Given the description of an element on the screen output the (x, y) to click on. 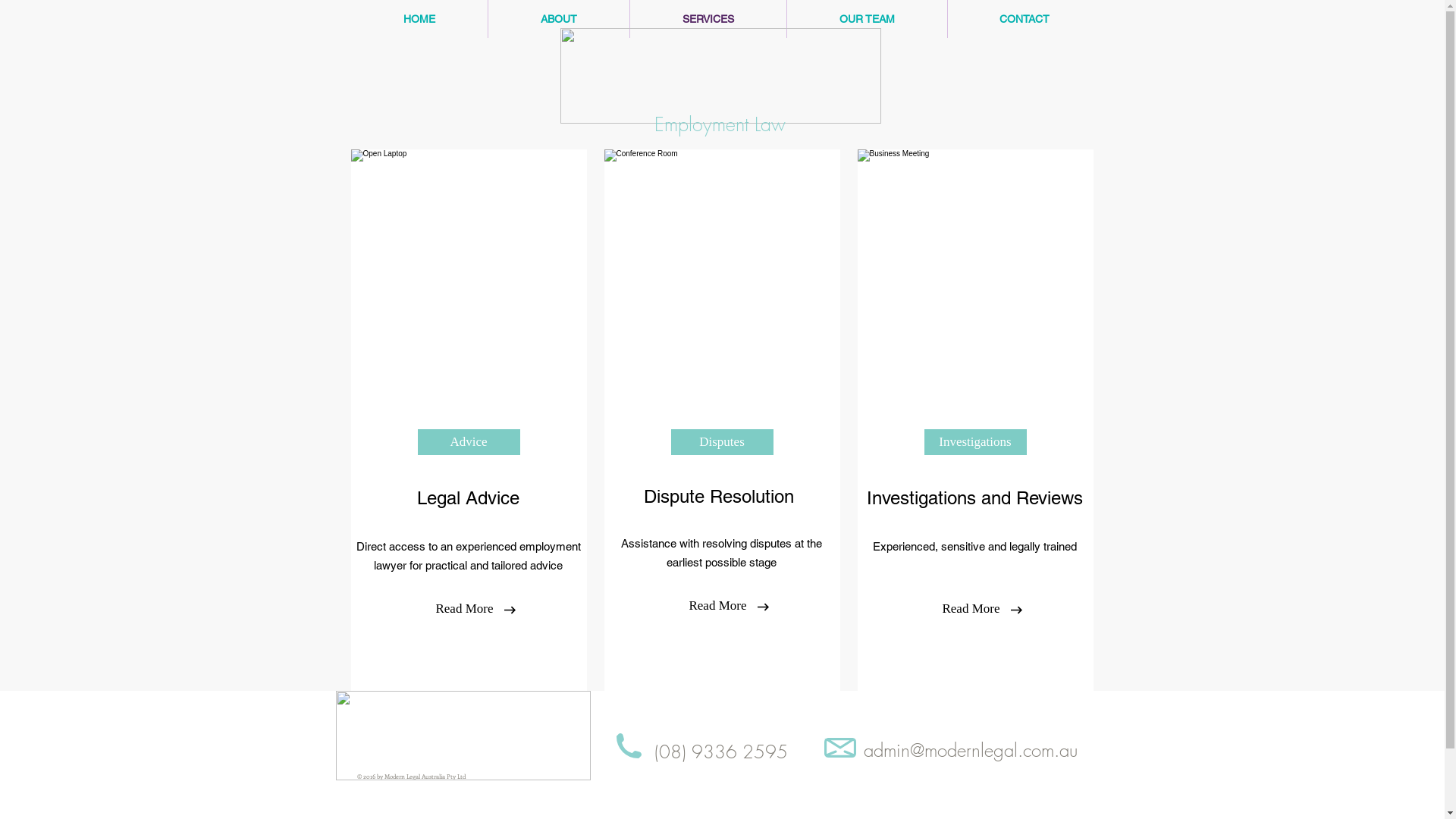
Read More Element type: text (717, 605)
Read More Element type: text (464, 608)
(08) 9336 2595 Element type: text (720, 751)
Advice Element type: text (468, 442)
Investigations Element type: text (974, 442)
OUR TEAM Element type: text (867, 18)
CONTACT Element type: text (1024, 18)
Disputes Element type: text (721, 442)
ABOUT Element type: text (558, 18)
Employment Law Element type: text (718, 123)
admin@modernlegal.com.au Element type: text (969, 749)
HOME Element type: text (418, 18)
SERVICES Element type: text (707, 18)
Read More Element type: text (971, 608)
